Given the description of an element on the screen output the (x, y) to click on. 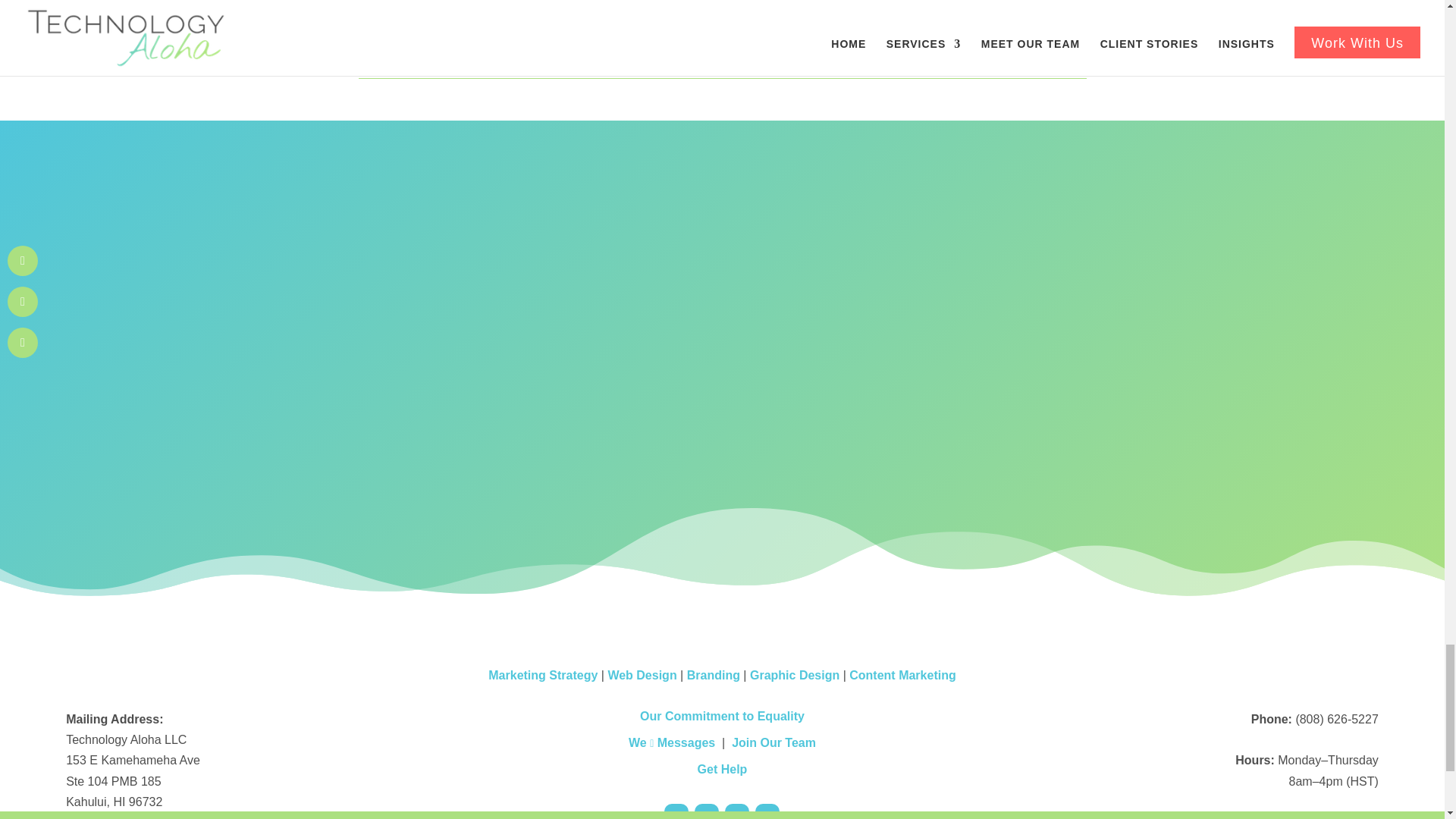
Content Marketing (901, 675)
Follow on Twitter (766, 811)
Follow on Facebook (706, 811)
Web Design (642, 675)
Graphic Design (794, 675)
Web Design (642, 675)
Marketing Strategy (541, 675)
Brand Development (713, 675)
Marketing Strategy (541, 675)
Branding (713, 675)
